Given the description of an element on the screen output the (x, y) to click on. 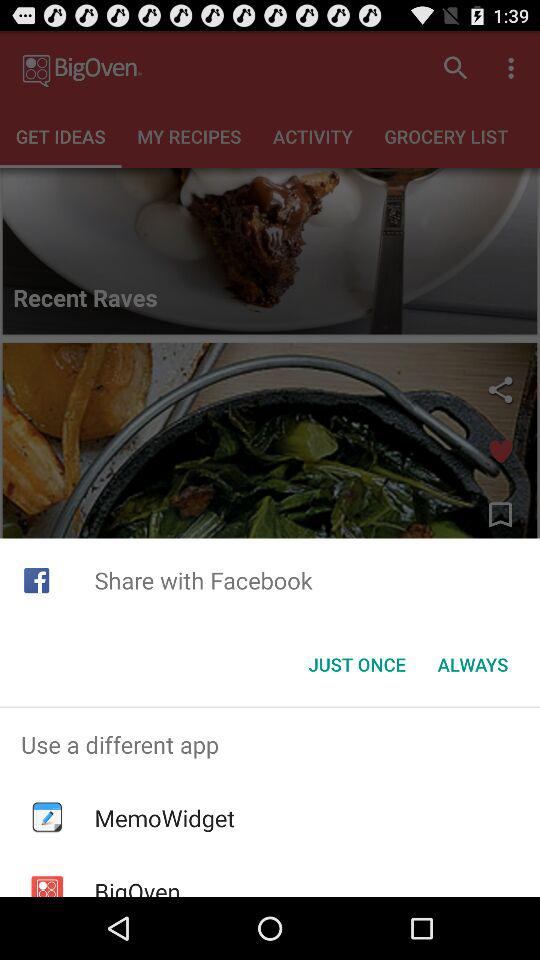
flip until bigoven icon (137, 885)
